Given the description of an element on the screen output the (x, y) to click on. 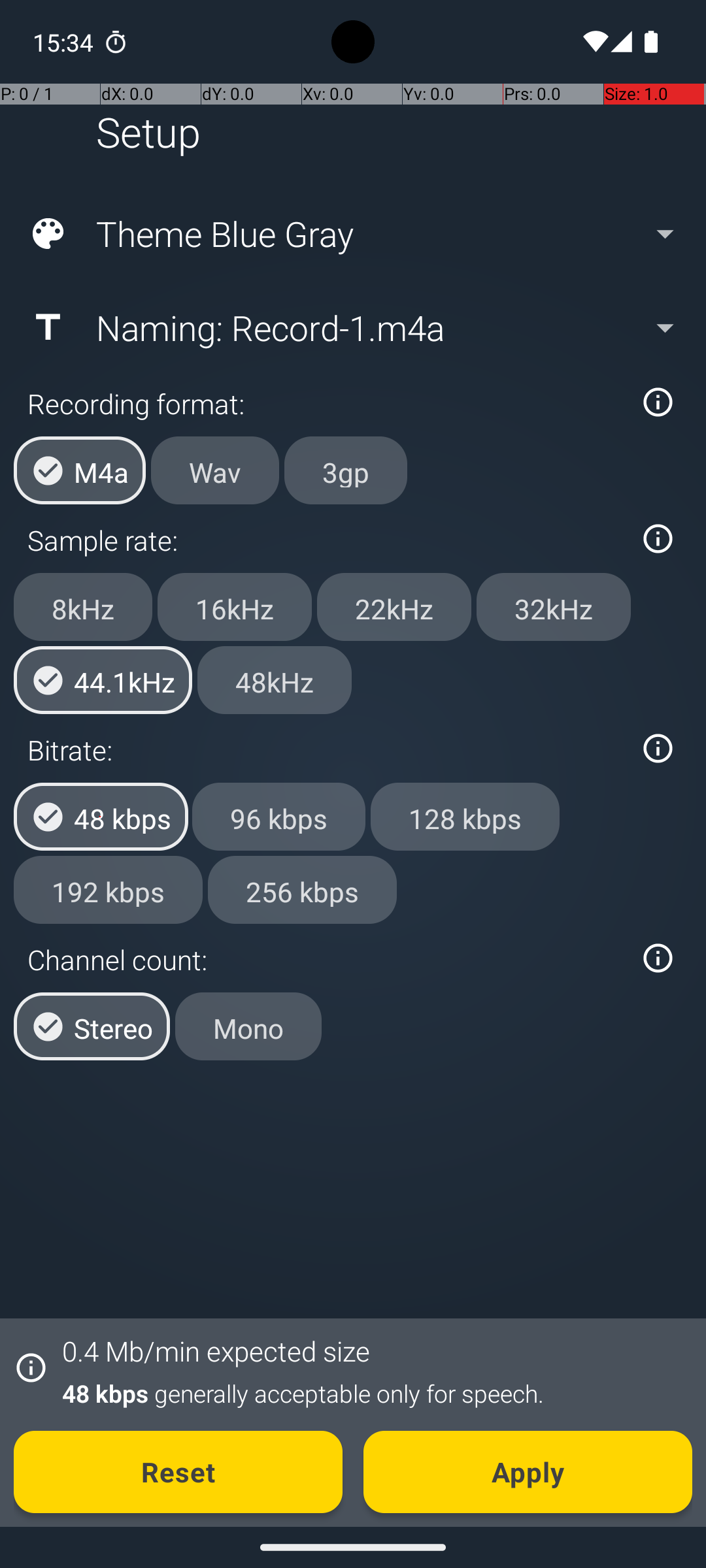
0.4 Mb/min expected size Element type: android.widget.TextView (215, 1350)
48 kbps generally acceptable only for speech. Element type: android.widget.TextView (370, 1392)
Wifi signal full. Element type: android.widget.FrameLayout (593, 41)
